Given the description of an element on the screen output the (x, y) to click on. 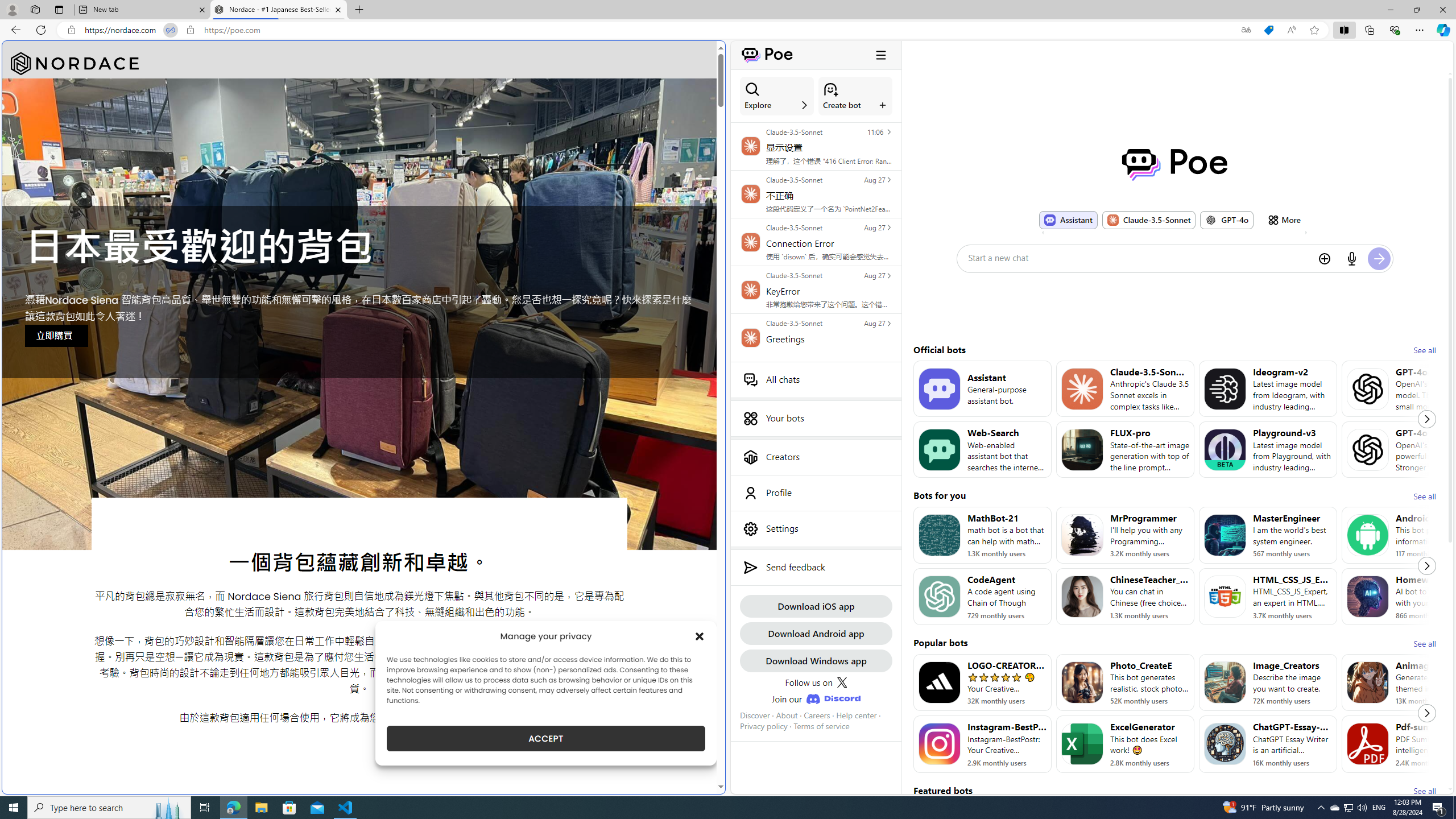
Bot image for ChineseTeacher_Lily (1081, 596)
Bot image for AndroidAssistant (1367, 534)
Bot image for MasterEngineer (1224, 534)
Bot image for GPT-4o GPT-4o (1226, 219)
Settings (815, 528)
Poe (1174, 164)
Bot image for LOGO-CREATOR-AI (938, 682)
